Given the description of an element on the screen output the (x, y) to click on. 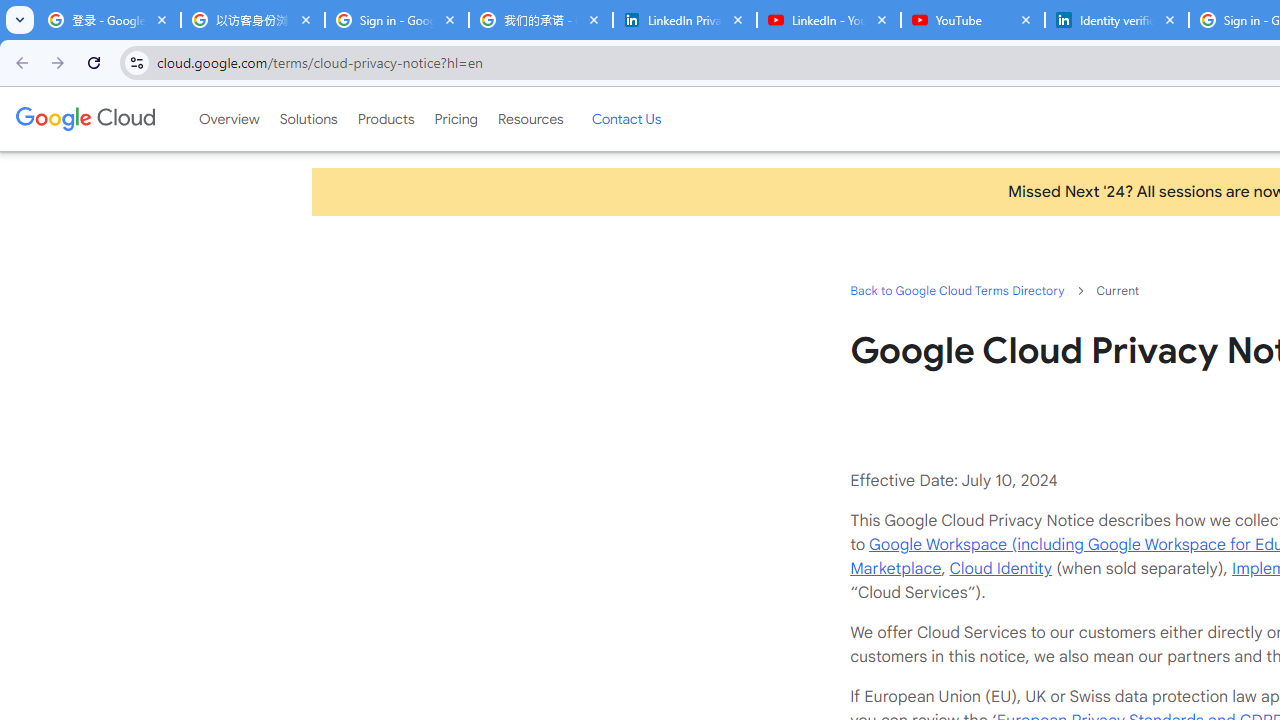
LinkedIn Privacy Policy (684, 20)
Pricing (455, 119)
LinkedIn - YouTube (828, 20)
Products (385, 119)
Solutions (308, 119)
Resources (530, 119)
